Given the description of an element on the screen output the (x, y) to click on. 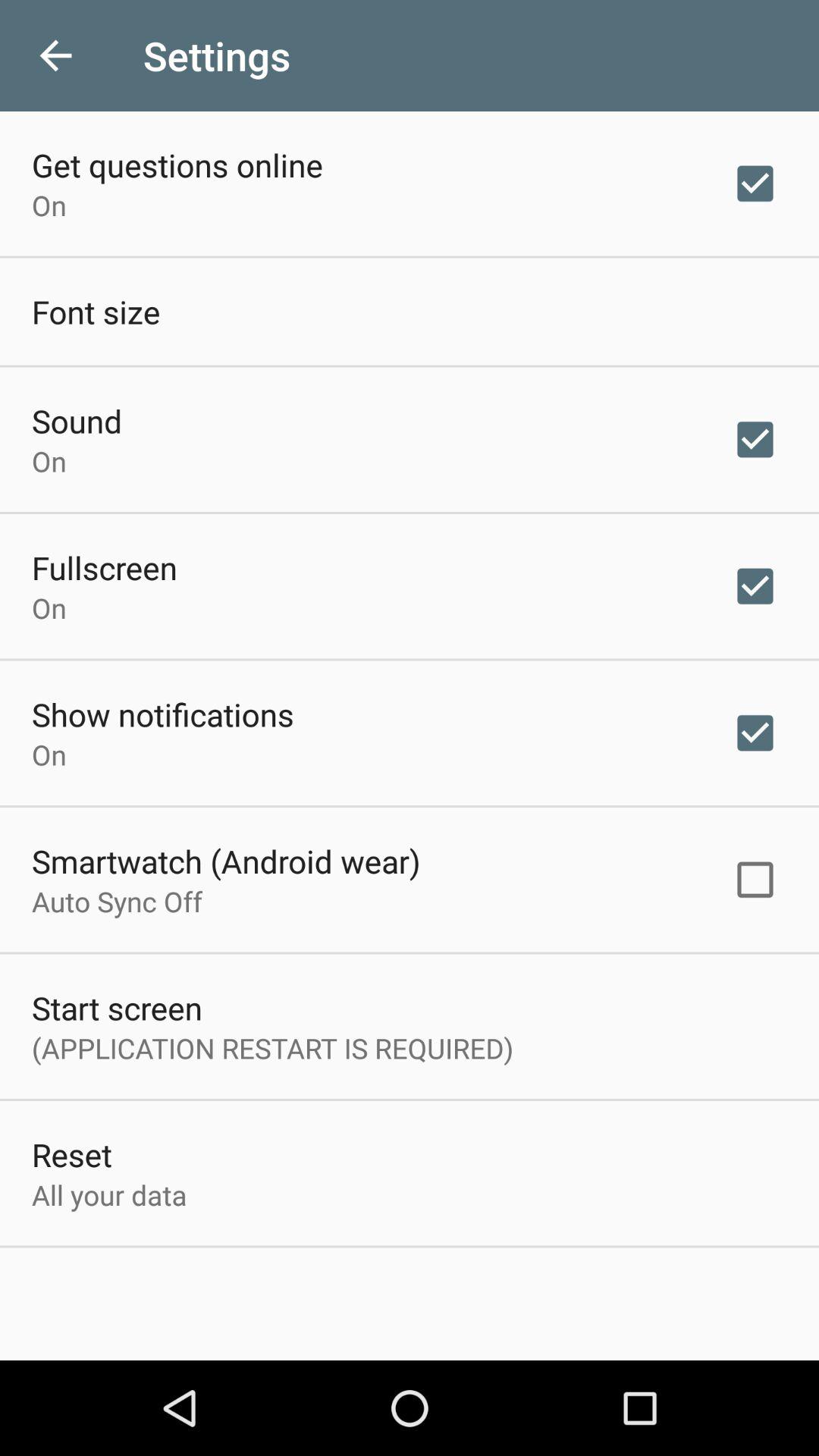
open all your data item (109, 1194)
